Given the description of an element on the screen output the (x, y) to click on. 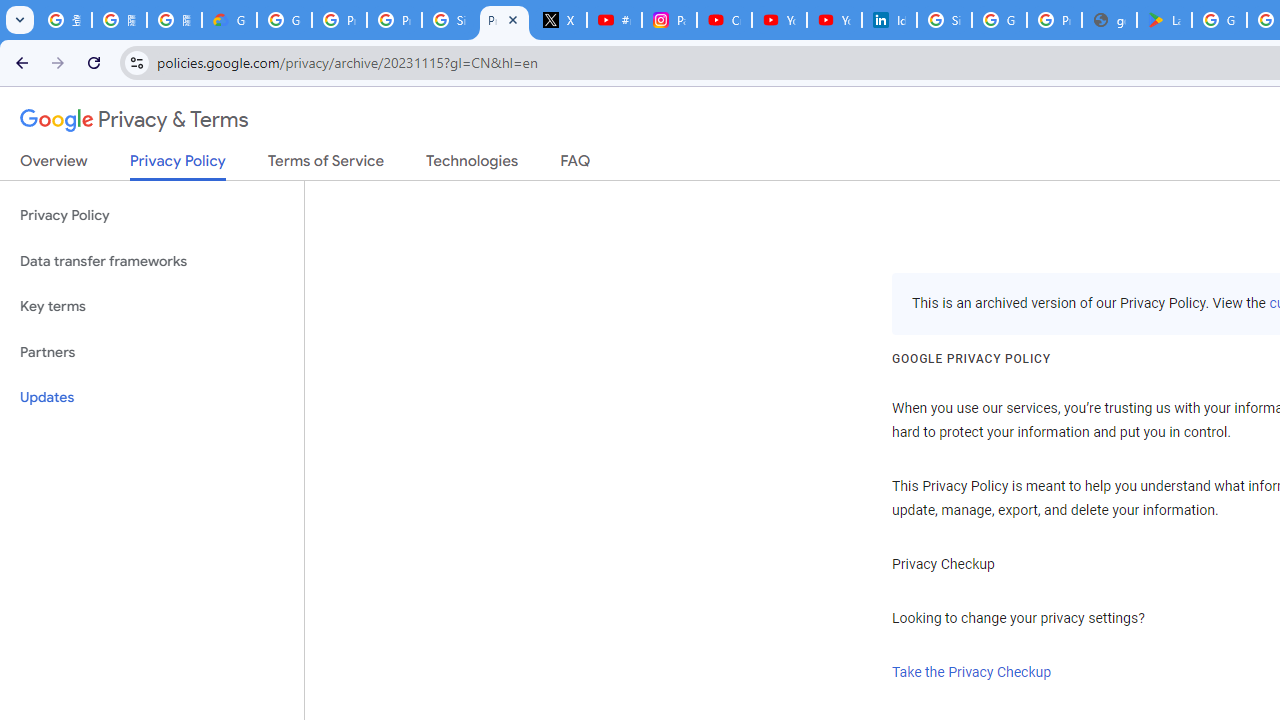
#nbabasketballhighlights - YouTube (614, 20)
Data transfer frameworks (152, 261)
Privacy Help Center - Policies Help (394, 20)
YouTube Culture & Trends - YouTube Top 10, 2021 (833, 20)
Sign in - Google Accounts (449, 20)
Google Cloud Privacy Notice (229, 20)
